Given the description of an element on the screen output the (x, y) to click on. 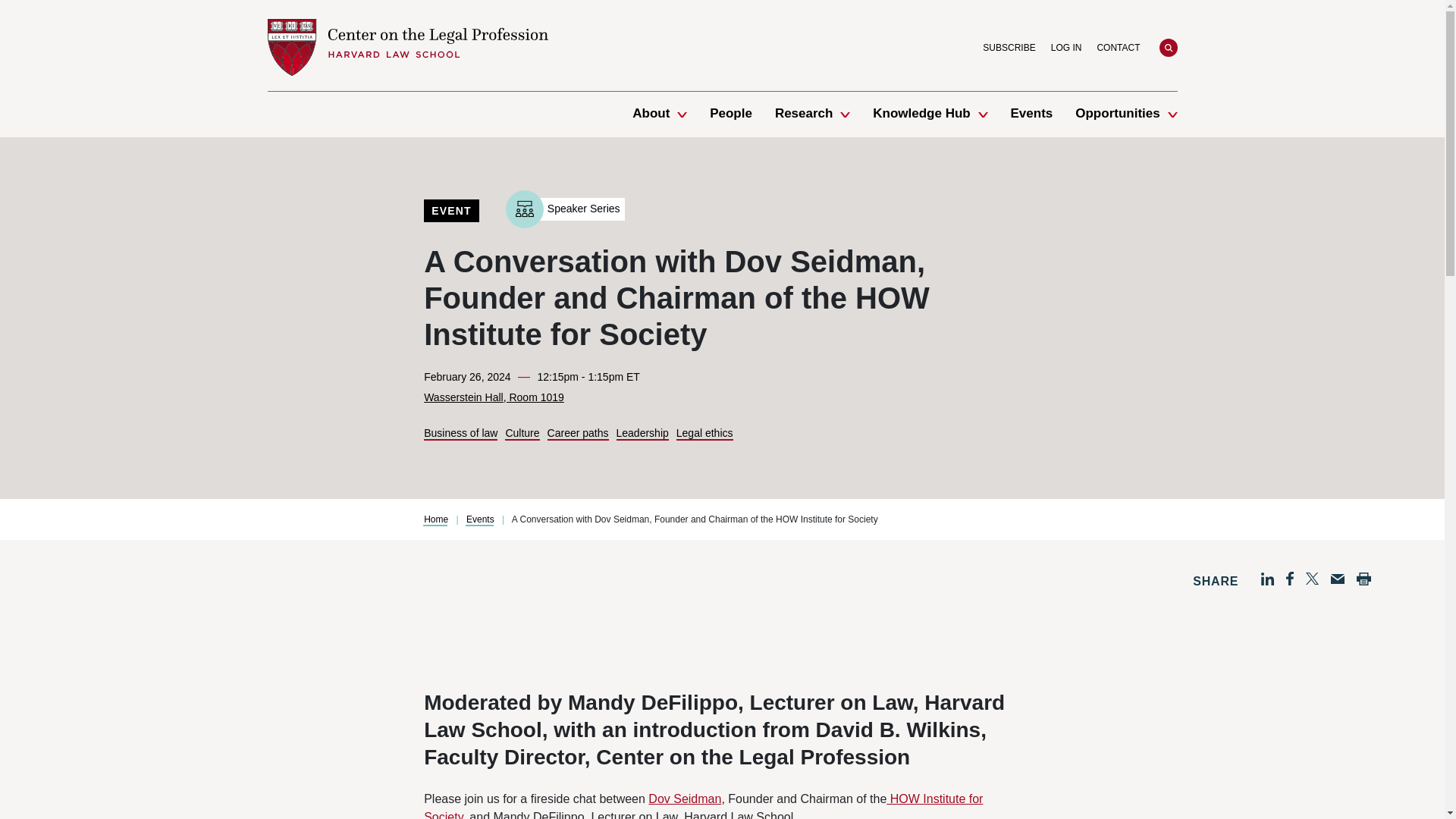
SUBSCRIBE (1008, 47)
Twitter (1312, 578)
Events (1031, 113)
Knowledge Hub (920, 113)
LOG IN (1066, 47)
Research (803, 113)
People (731, 113)
LinkedIn (1267, 578)
CONTACT (1118, 47)
Email (1336, 578)
Opportunities (1116, 113)
Harvard Law School (406, 47)
Print (1363, 578)
About (650, 113)
